Given the description of an element on the screen output the (x, y) to click on. 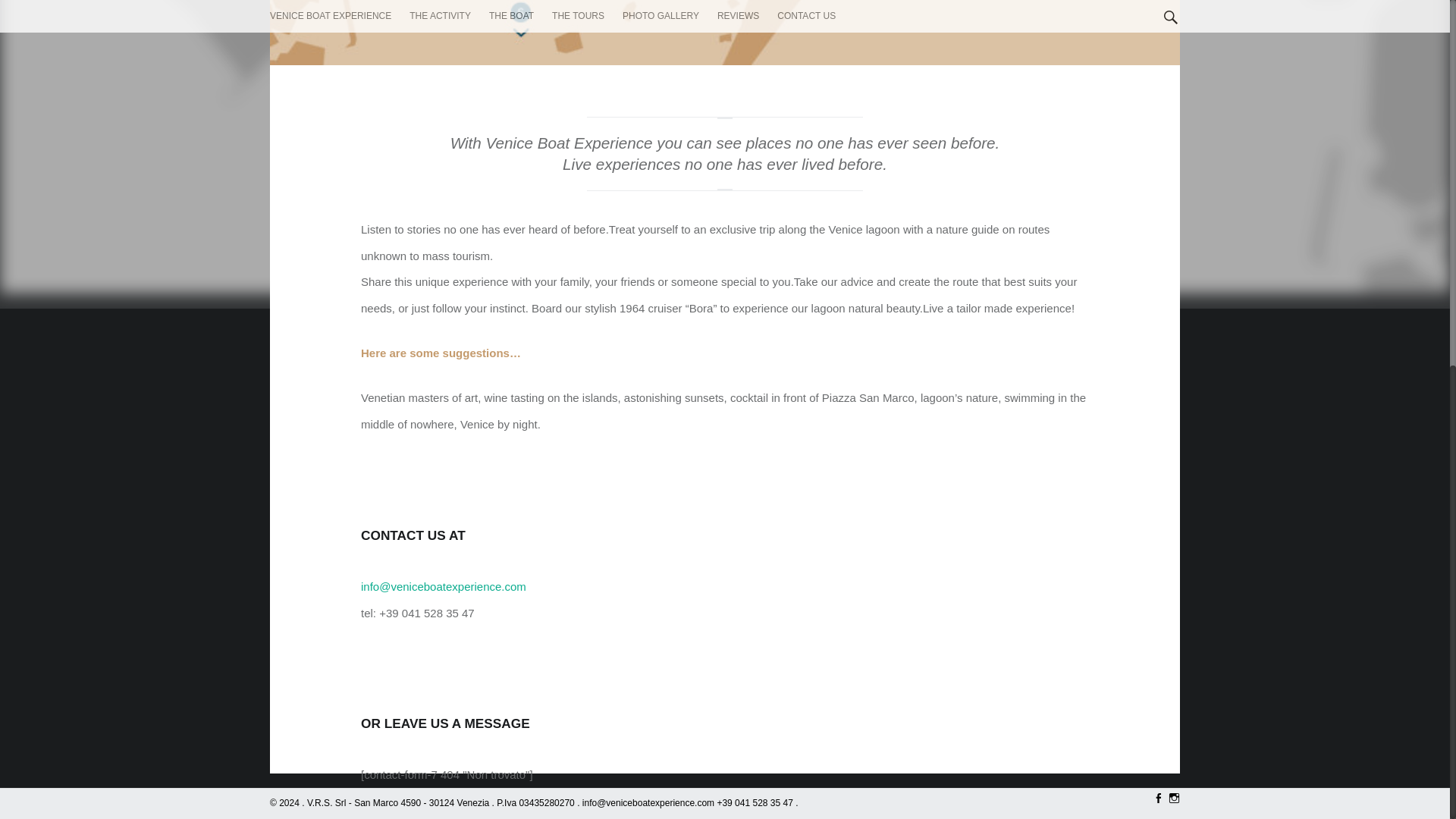
Venice Boat Experience on Instagram (1171, 141)
Venice Boat Experience on Facebook (1156, 141)
